Given the description of an element on the screen output the (x, y) to click on. 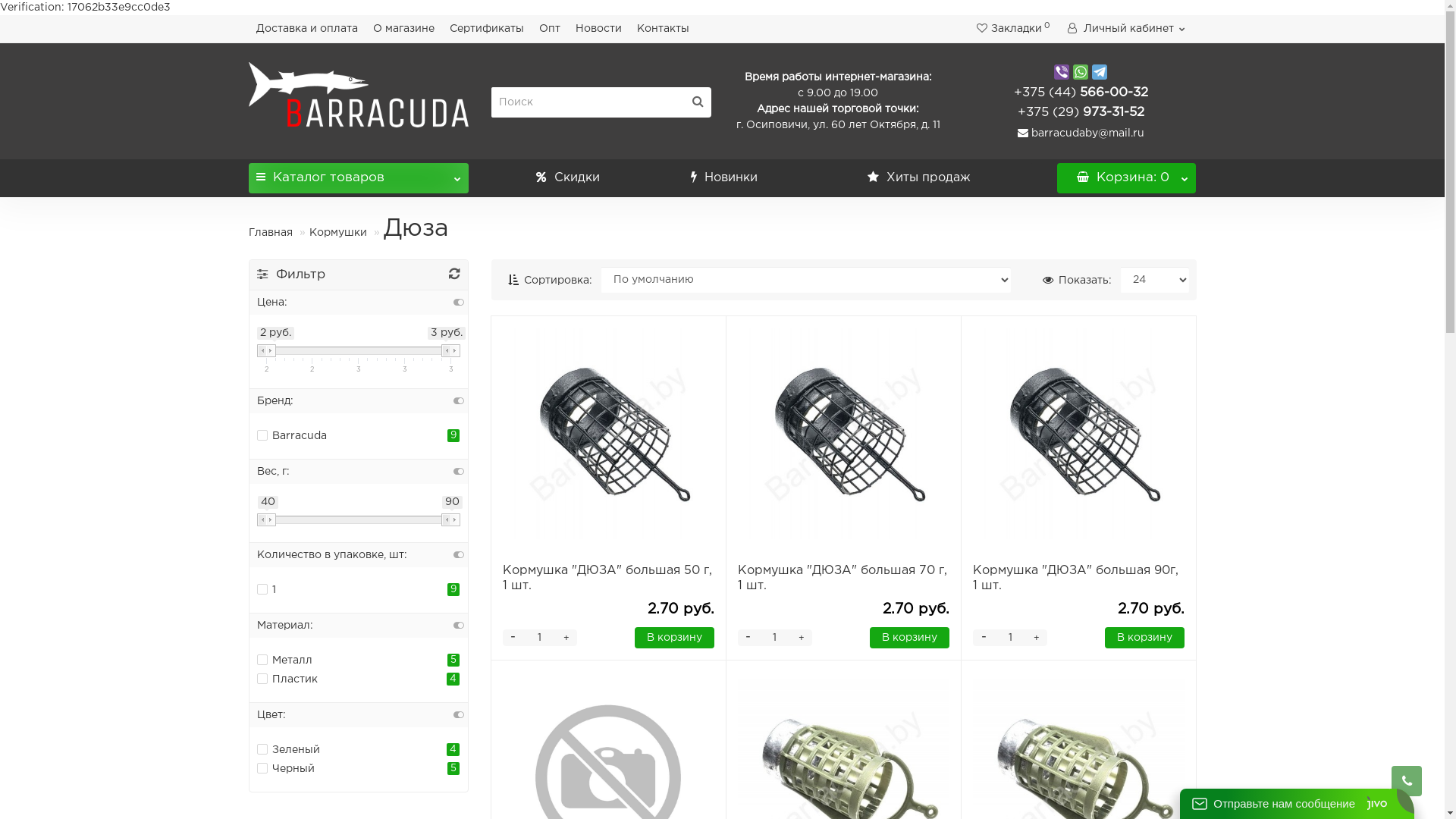
+ Element type: text (801, 637)
- Element type: text (748, 637)
- Element type: text (513, 637)
- Element type: text (983, 637)
Barracuda.by Element type: hover (358, 94)
+ Element type: text (566, 637)
+375 (44) 566-00-32 Element type: text (1080, 92)
+ Element type: text (1036, 637)
+375 (29) 973-31-52 Element type: text (1080, 112)
